Given the description of an element on the screen output the (x, y) to click on. 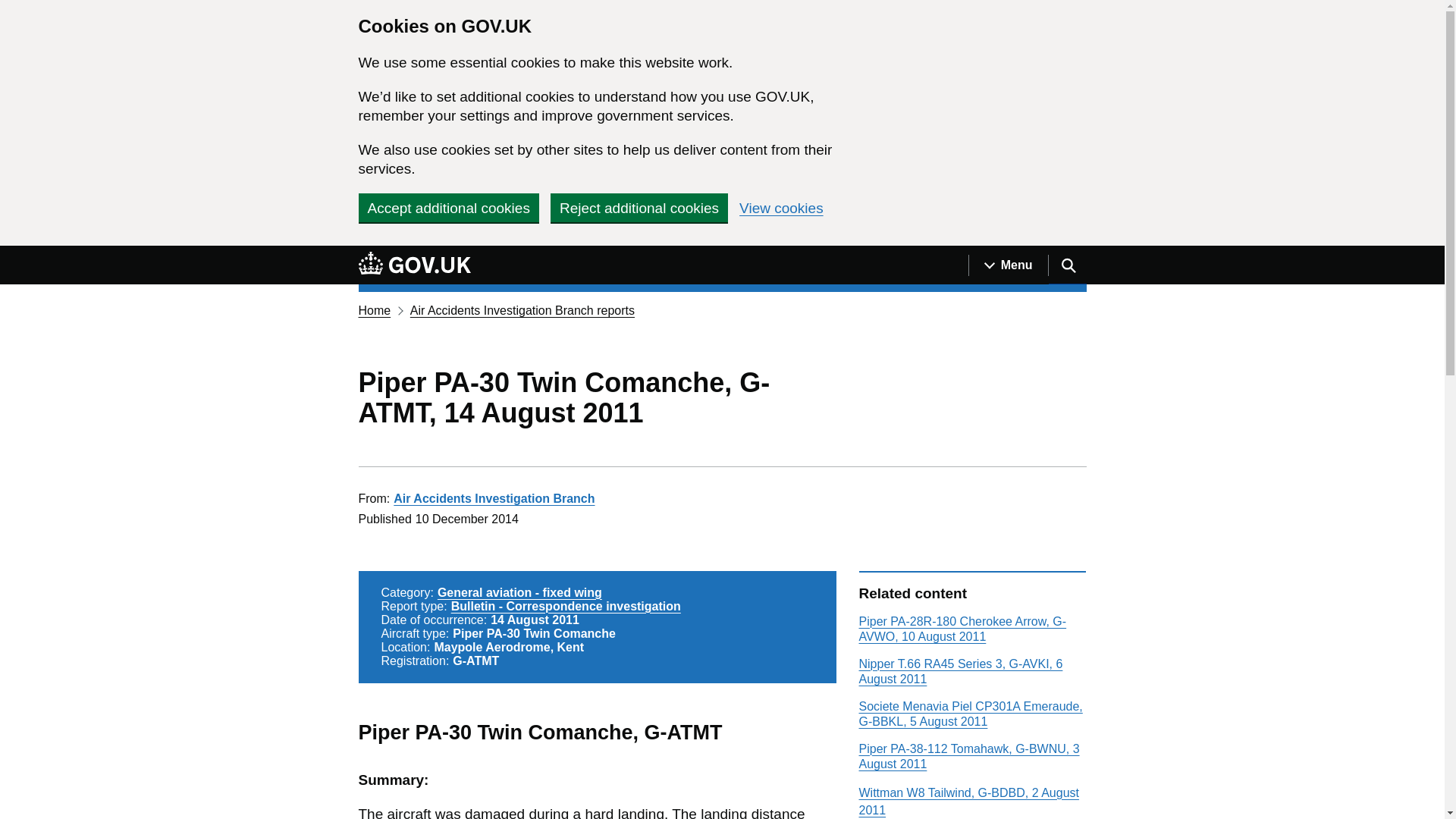
General aviation - fixed wing (520, 592)
Piper PA-38-112 Tomahawk, G-BWNU, 3 August 2011 (968, 756)
Societe Menavia Piel CP301A Emeraude, G-BBKL, 5 August 2011 (970, 714)
View cookies (781, 207)
GOV.UK (414, 264)
Reject additional cookies (639, 207)
Piper PA-28R-180 Cherokee Arrow, G-AVWO, 10 August 2011 (962, 628)
Menu (1008, 265)
Search GOV.UK (1067, 265)
Bulletin - Correspondence investigation (566, 605)
